Given the description of an element on the screen output the (x, y) to click on. 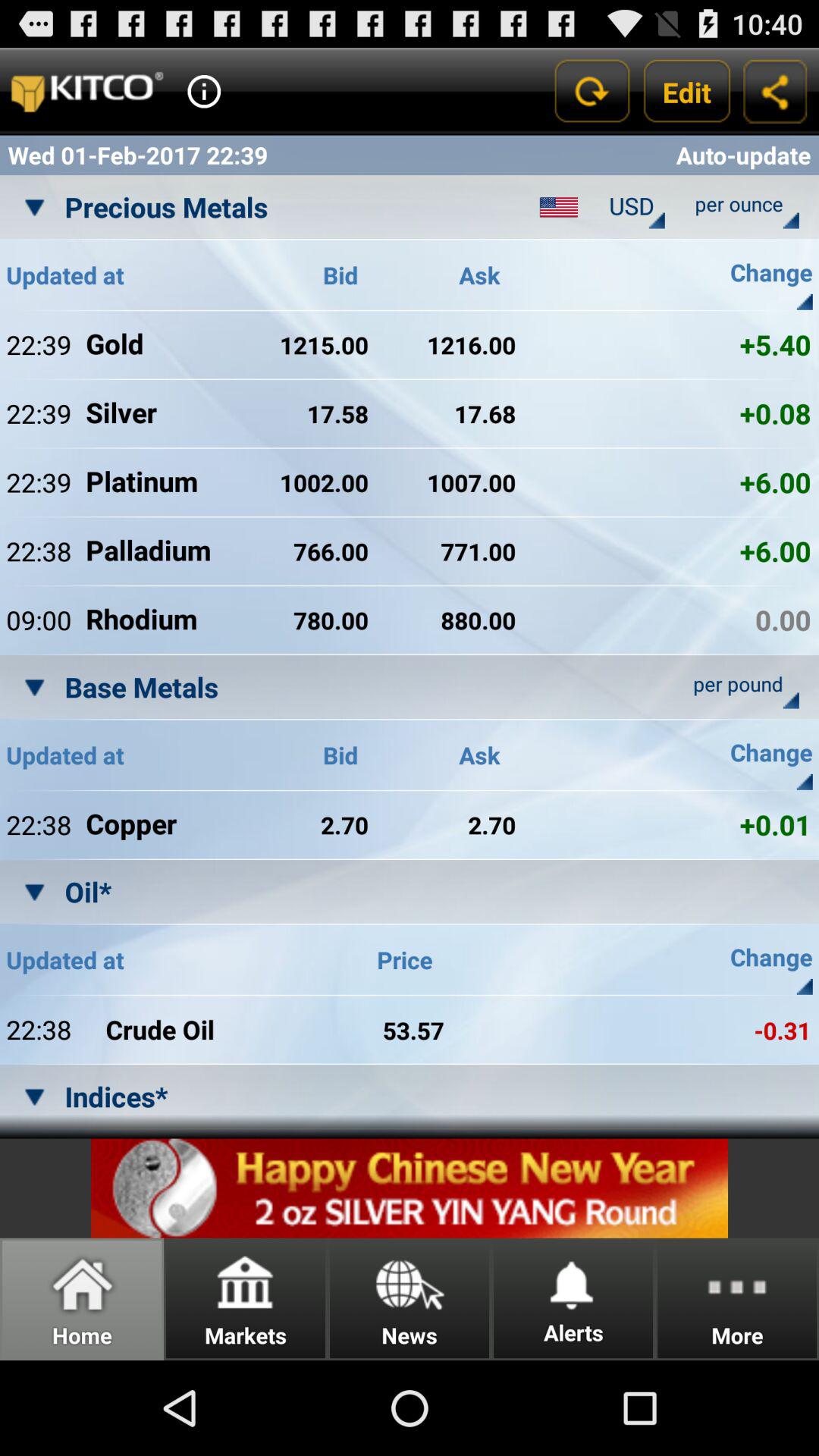
share data (775, 91)
